Given the description of an element on the screen output the (x, y) to click on. 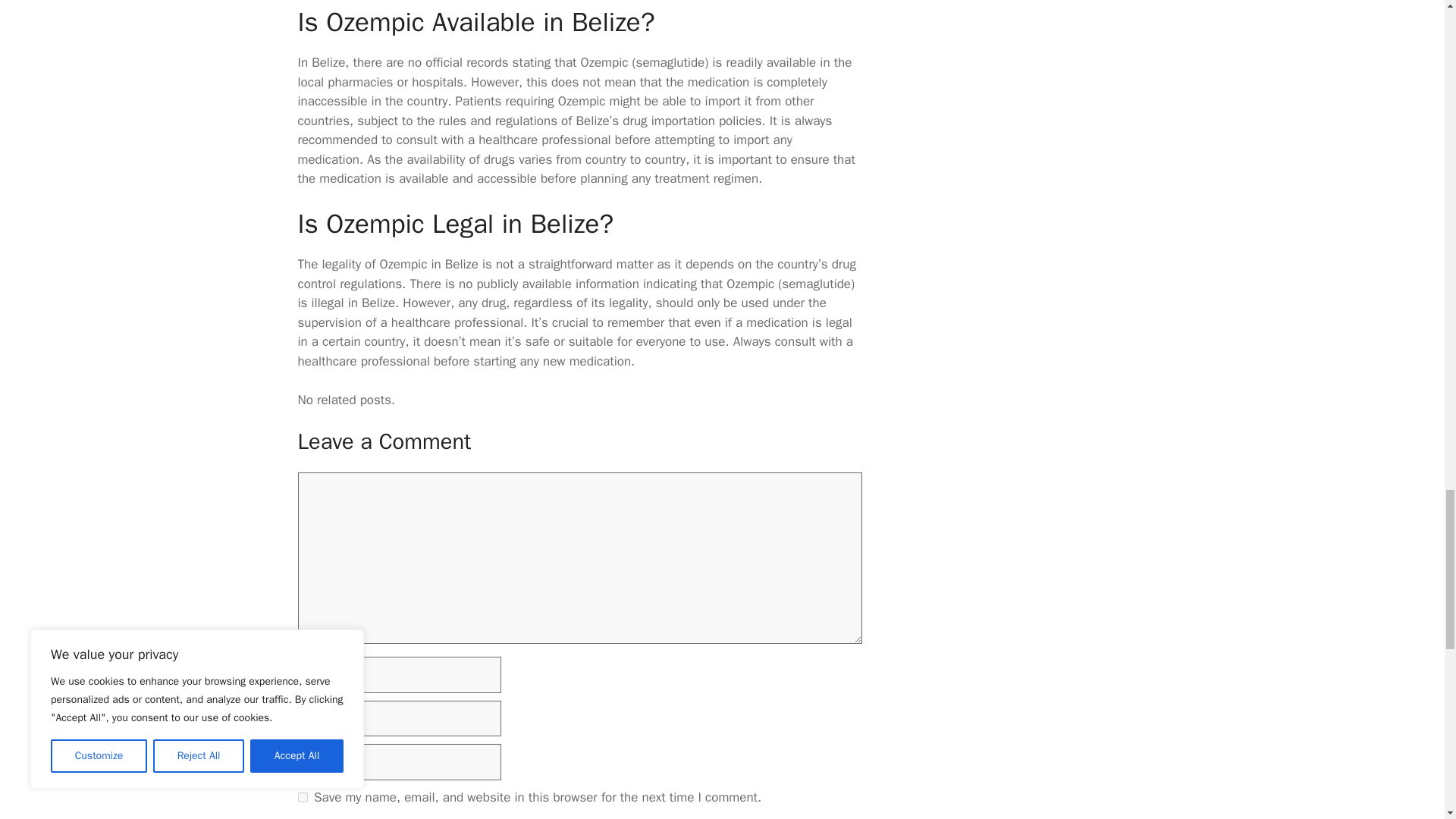
yes (302, 797)
